Given the description of an element on the screen output the (x, y) to click on. 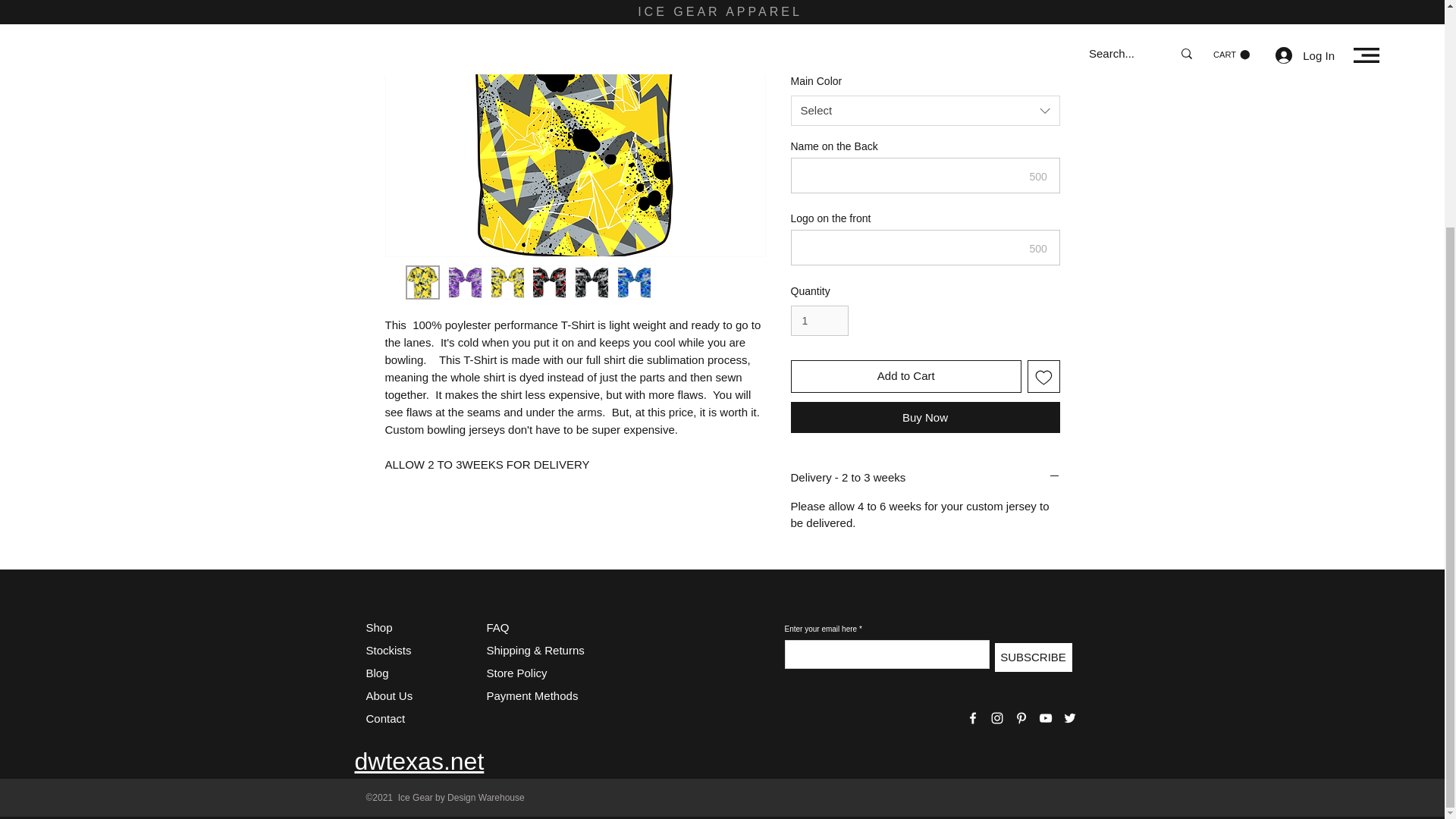
About Us (388, 695)
SUBSCRIBE (1032, 656)
Add to Cart (906, 376)
dwtexas.net (419, 760)
FAQ (497, 626)
Store Policy (516, 672)
Stockists (387, 649)
Shop (378, 626)
Delivery - 2 to 3 weeks (924, 477)
Buy Now (924, 417)
Select (924, 43)
Select (924, 110)
1 (818, 320)
Contact (384, 717)
Payment Methods  (533, 695)
